Given the description of an element on the screen output the (x, y) to click on. 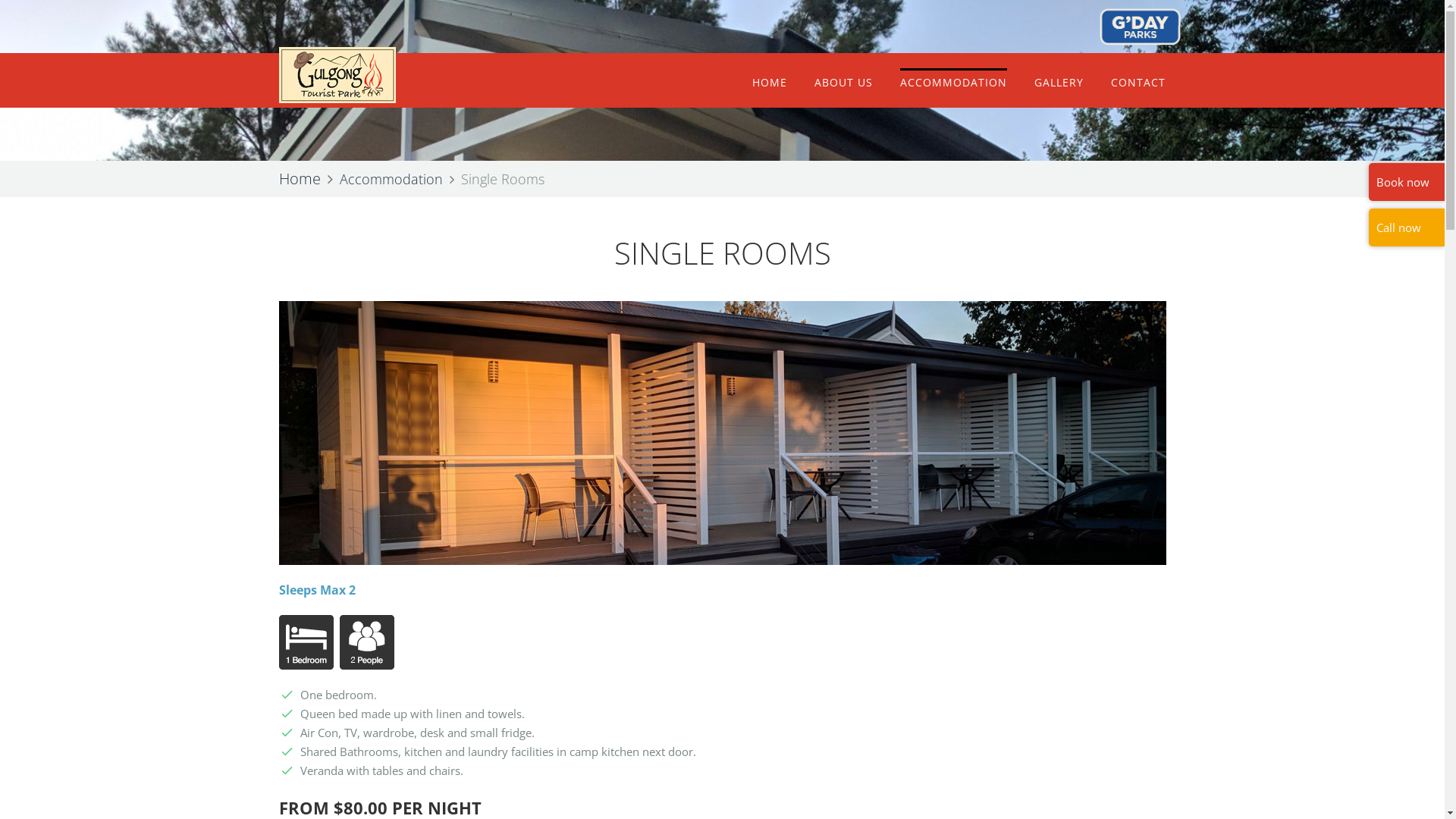
Home Element type: text (299, 178)
HOME Element type: text (769, 82)
ABOUT US Element type: text (843, 82)
Accommodation Element type: text (390, 178)
Call now Element type: text (1398, 227)
Book now Element type: text (1402, 181)
GALLERY Element type: text (1058, 82)
CONTACT Element type: text (1137, 82)
ACCOMMODATION Element type: text (953, 82)
